Given the description of an element on the screen output the (x, y) to click on. 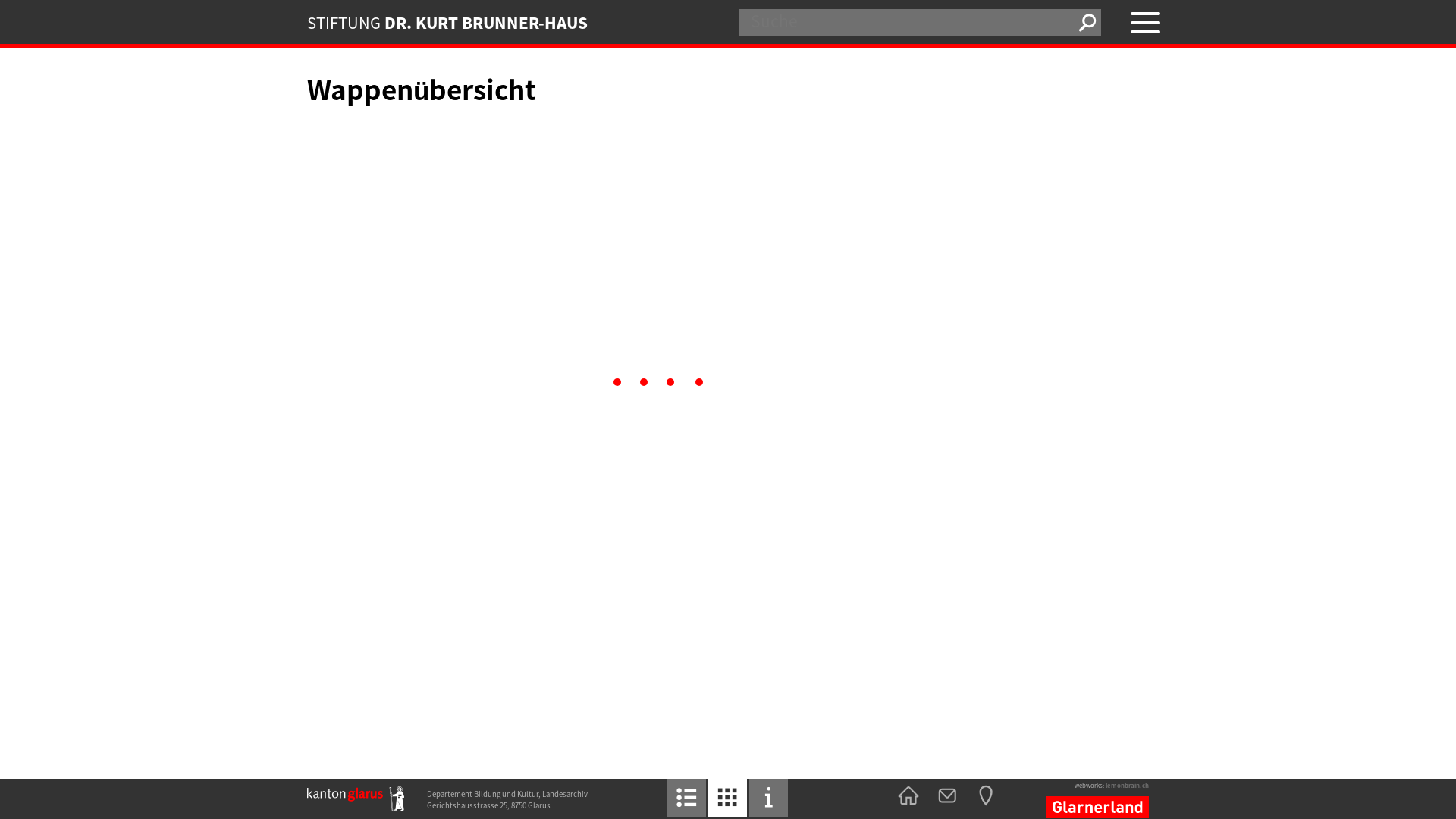
lemonbrain.ch Element type: text (1126, 785)
Inhaltsverzeichnis Element type: hover (686, 797)
STIFTUNG DR. KURT BRUNNER-HAUS Element type: text (511, 21)
Info Element type: hover (768, 797)
Kanton Glarus Element type: hover (355, 798)
